Given the description of an element on the screen output the (x, y) to click on. 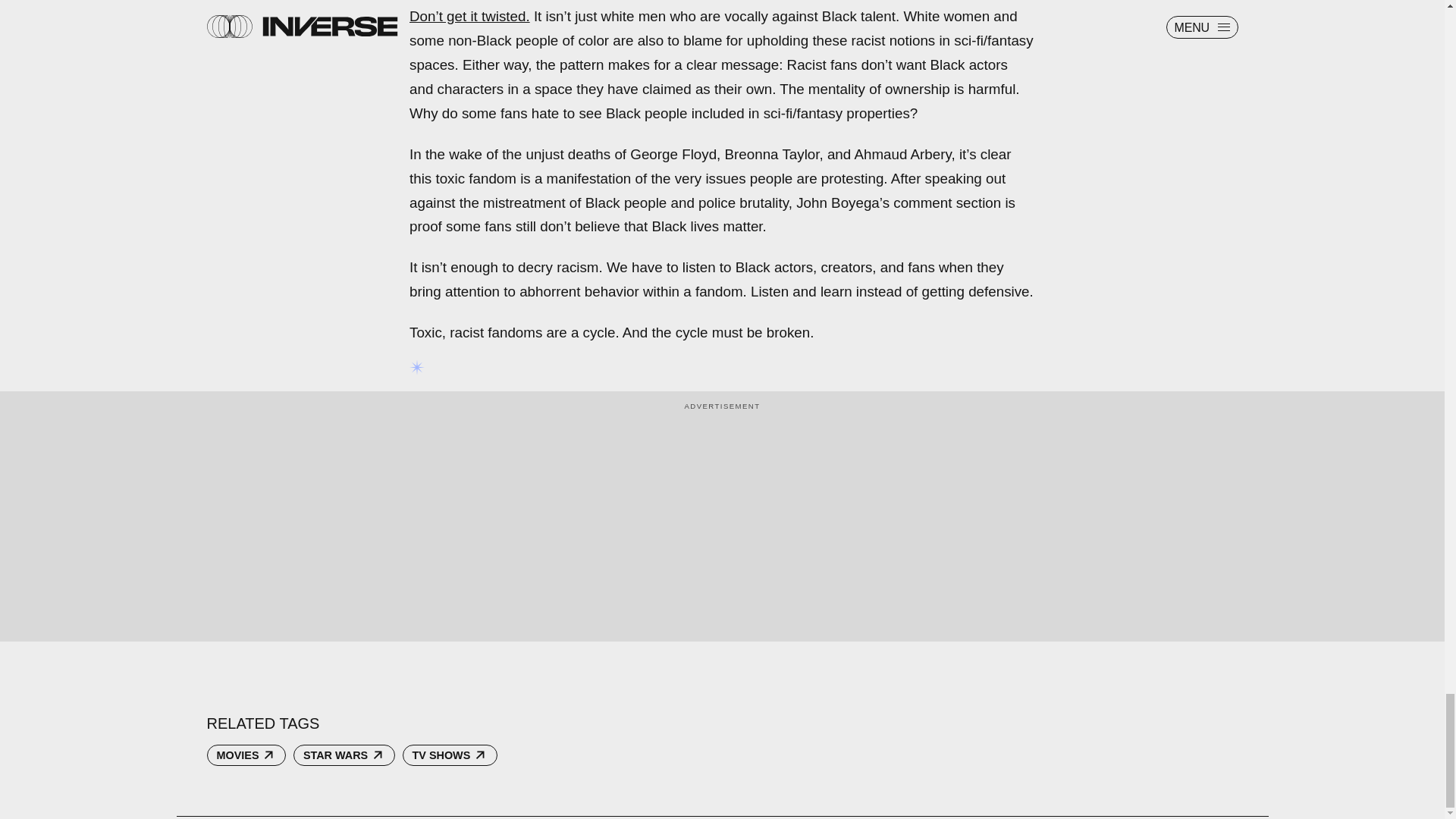
TV SHOWS (450, 754)
MOVIES (245, 754)
STAR WARS (344, 754)
